Given the description of an element on the screen output the (x, y) to click on. 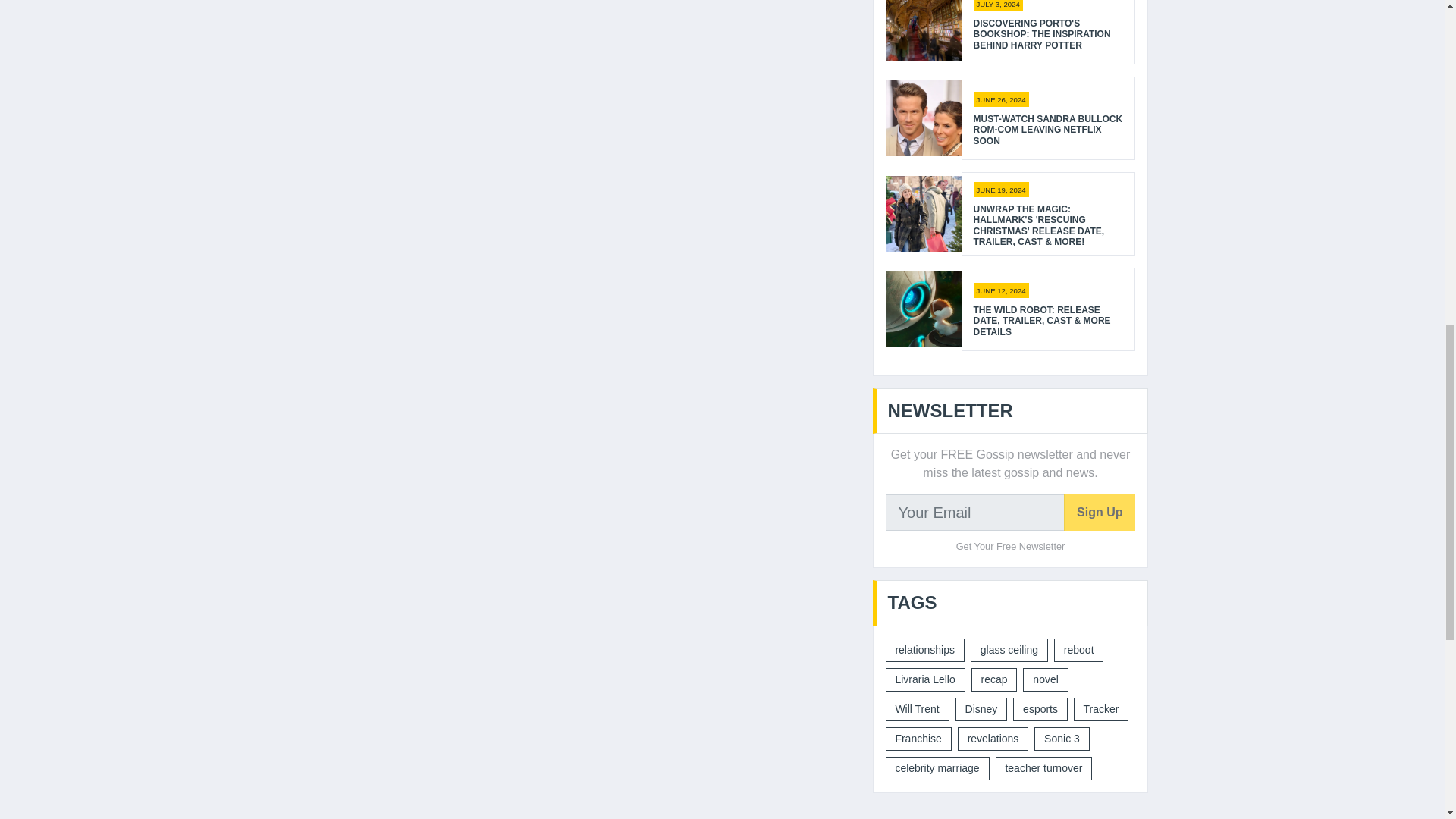
 Disney  (981, 709)
 Franchise  (918, 739)
JUNE 19, 2024 (1001, 189)
 Will Trent  (917, 709)
JUNE 12, 2024 (1001, 290)
JULY 3, 2024 (998, 5)
 reboot  (1078, 649)
 glass ceiling  (1009, 649)
 recap  (994, 679)
Must-Watch Sandra Bullock Rom-Com Leaving Netflix Soon (1048, 129)
 Livraria Lello  (925, 679)
 Tracker  (1101, 709)
 esports  (1040, 709)
